Given the description of an element on the screen output the (x, y) to click on. 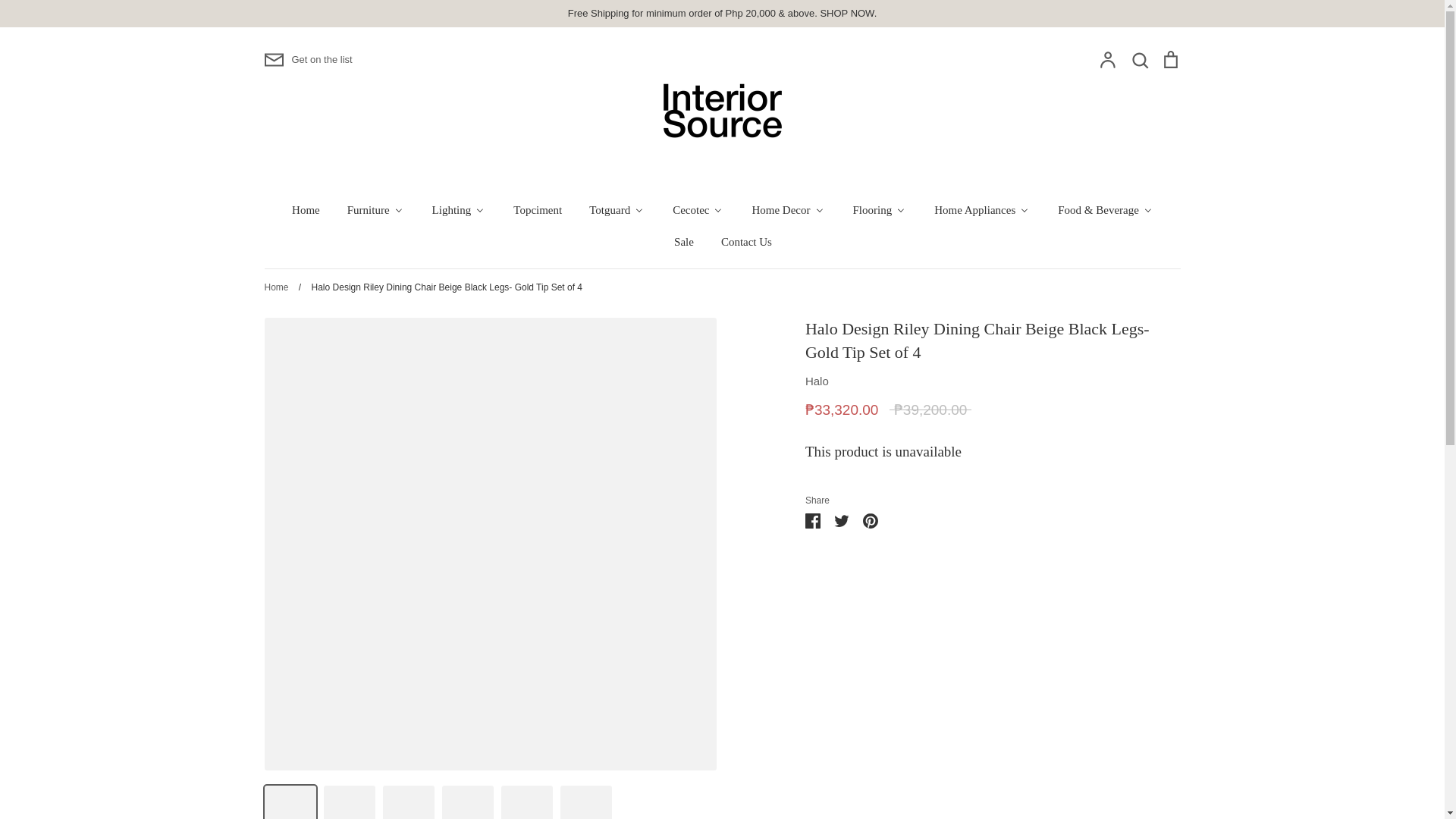
Search (1139, 59)
Account (1107, 59)
Get on the list (307, 59)
Home (304, 209)
Furniture (374, 209)
Cart (1169, 59)
